Given the description of an element on the screen output the (x, y) to click on. 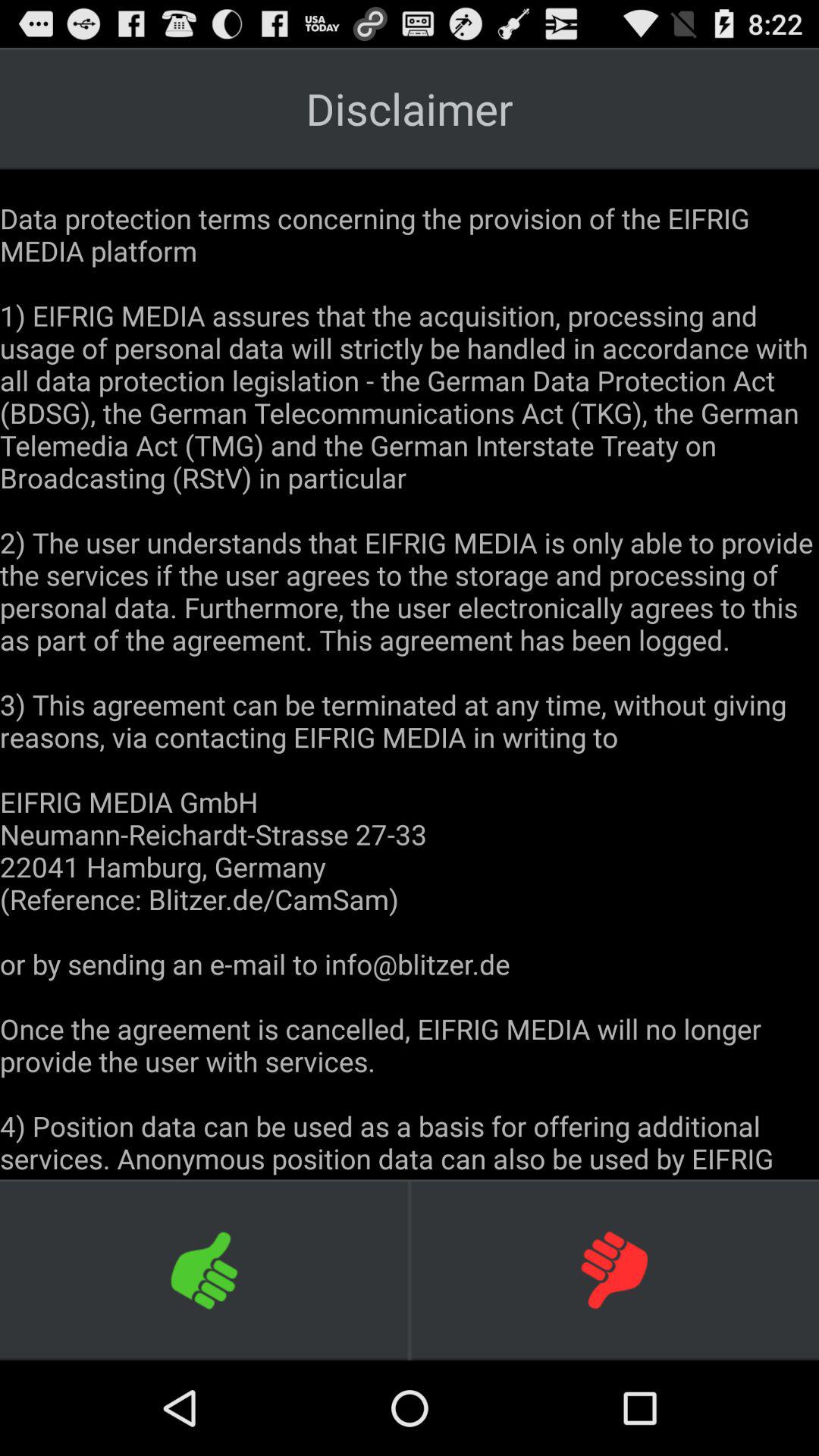
consent to the aggreement (204, 1269)
